Given the description of an element on the screen output the (x, y) to click on. 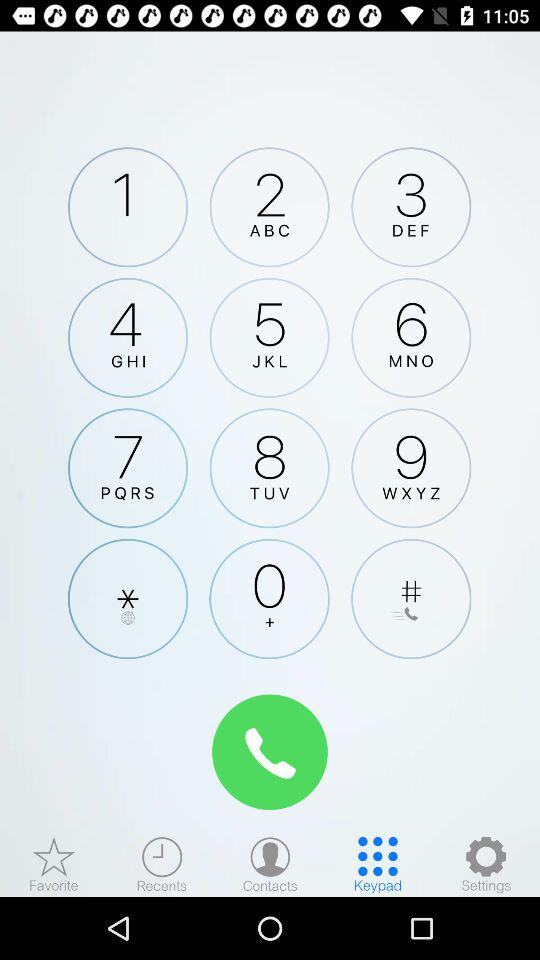
select the 4 digit or g h i letter (127, 337)
